Given the description of an element on the screen output the (x, y) to click on. 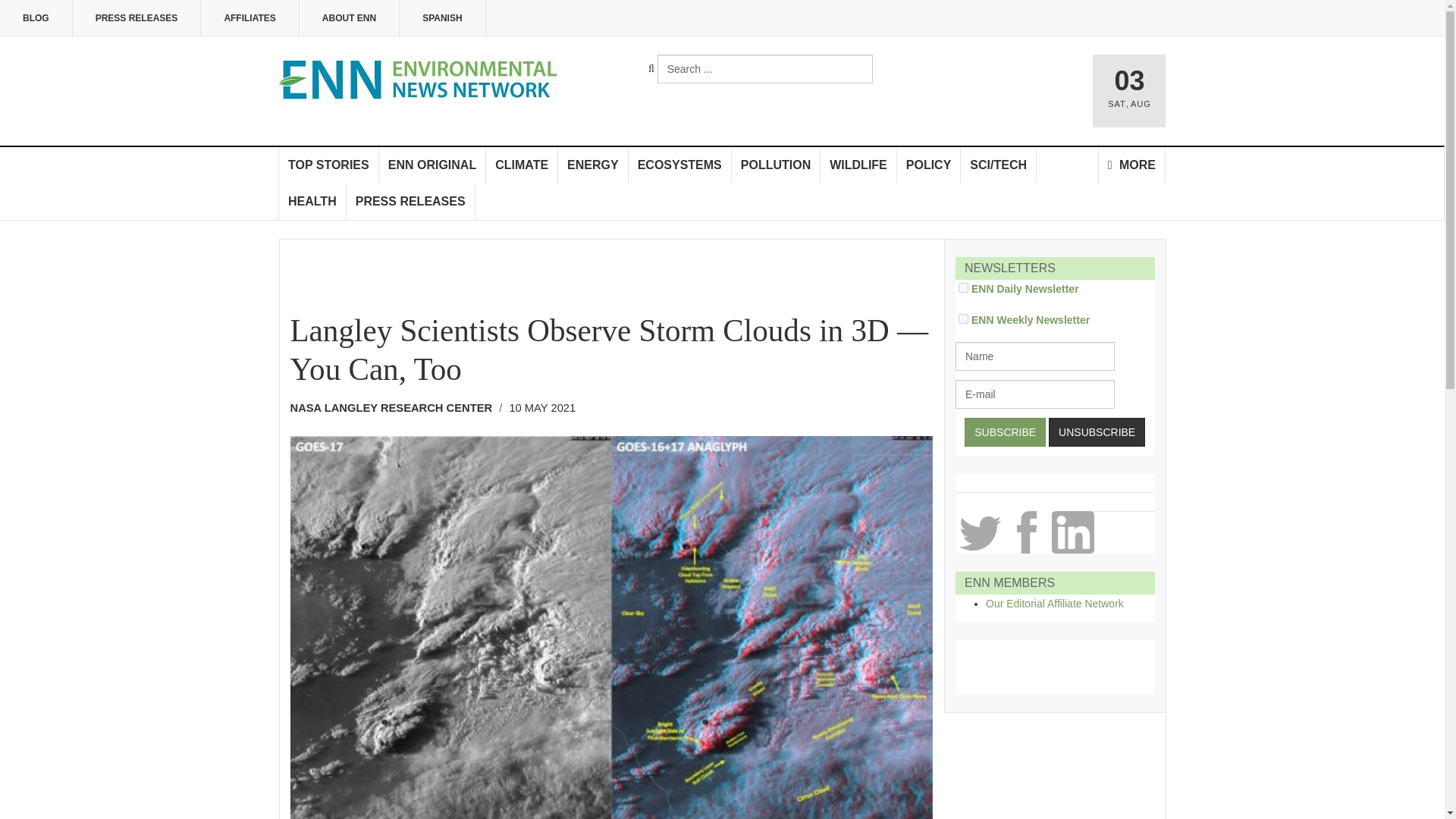
Unsubscribe (1096, 431)
Name (1035, 356)
ECOSYSTEMS (680, 165)
ABOUT ENN (348, 18)
Published:  (541, 407)
Search ... (765, 68)
Written by  (395, 407)
WILDLIFE (858, 165)
3 (963, 318)
TOP STORIES (328, 165)
